Given the description of an element on the screen output the (x, y) to click on. 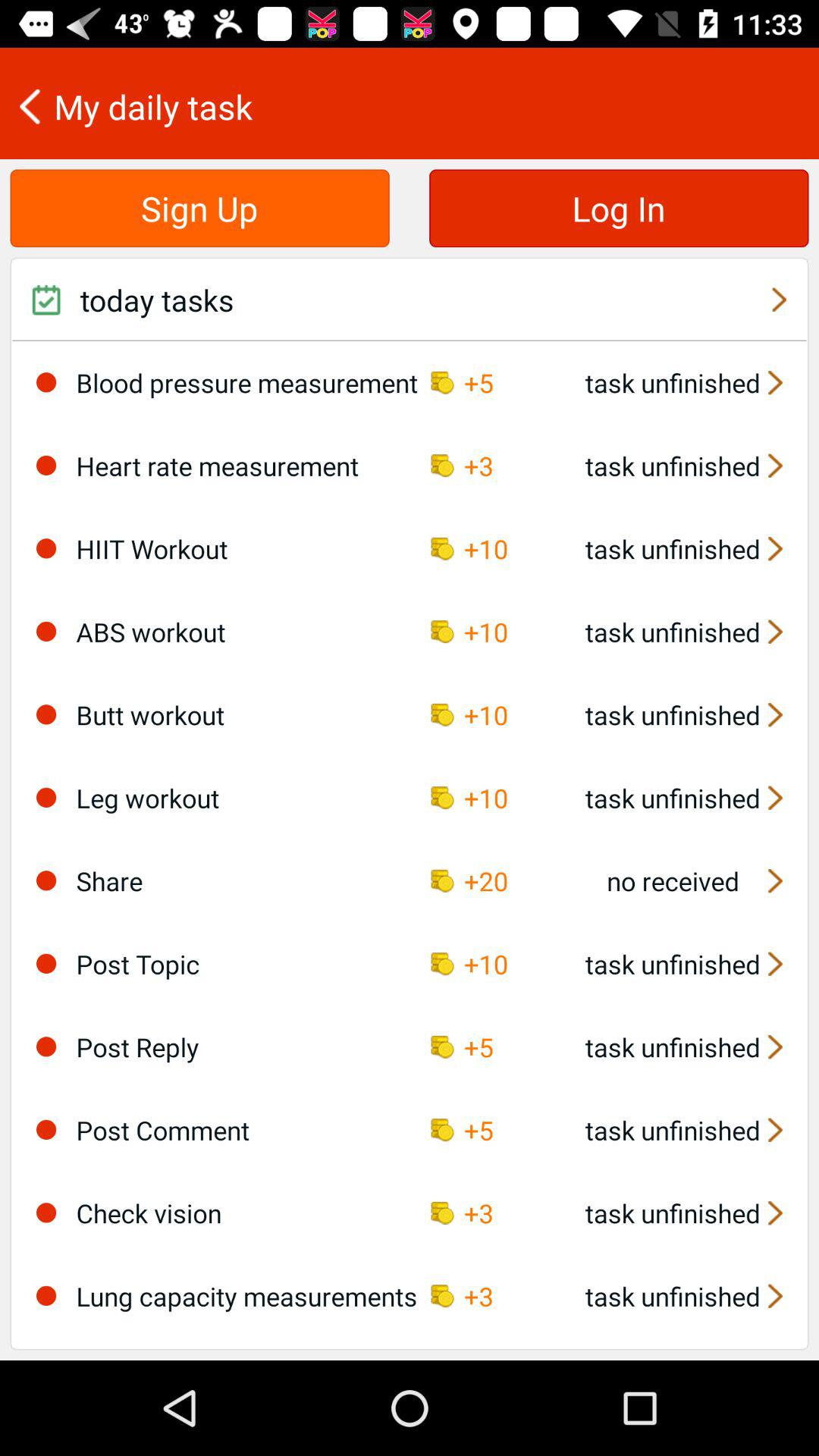
post topic (46, 963)
